Given the description of an element on the screen output the (x, y) to click on. 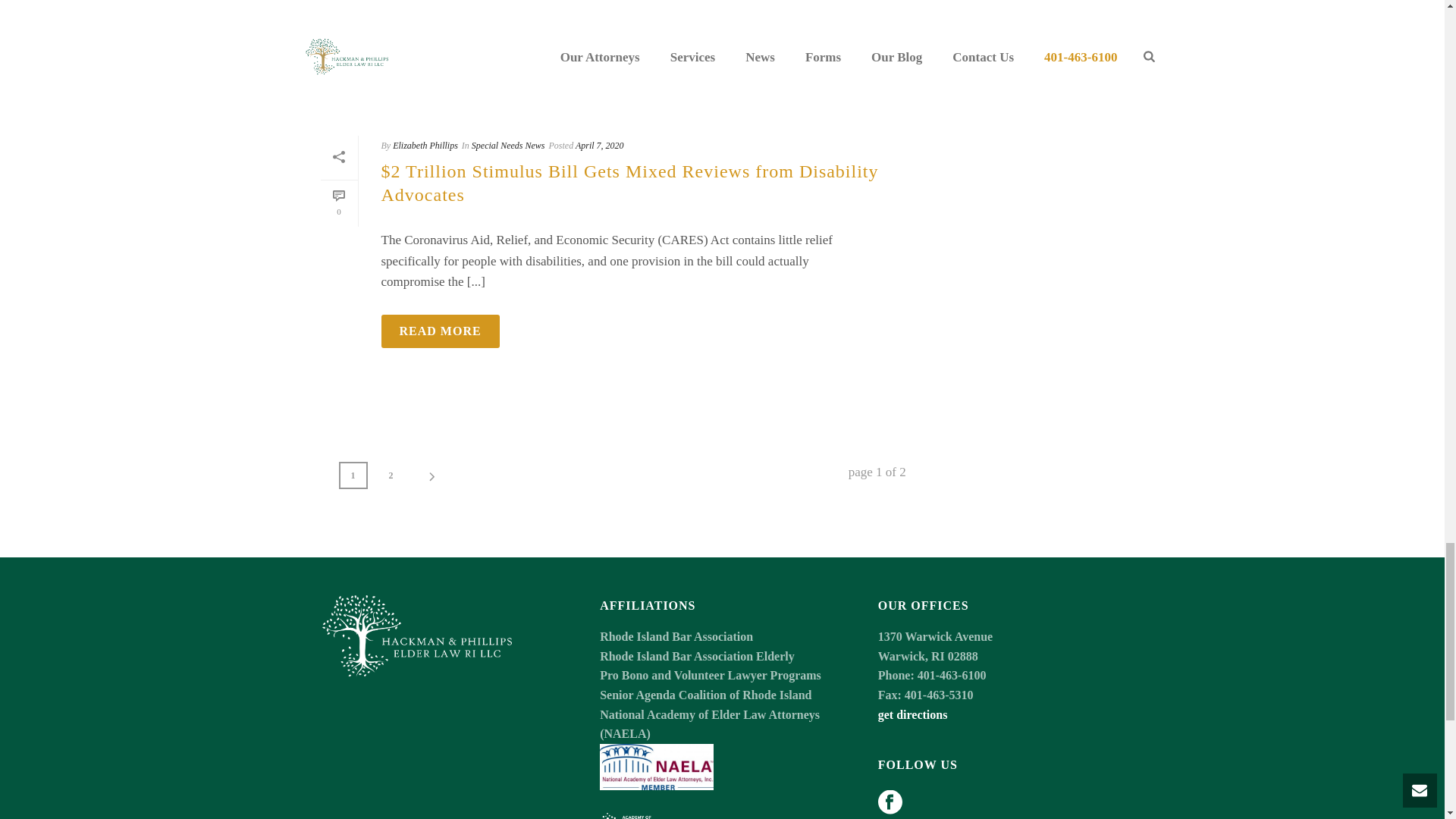
READ MORE (439, 54)
Follow Us on facebook (889, 803)
Posts by Elizabeth Phillips (425, 145)
READ MORE (439, 331)
